Given the description of an element on the screen output the (x, y) to click on. 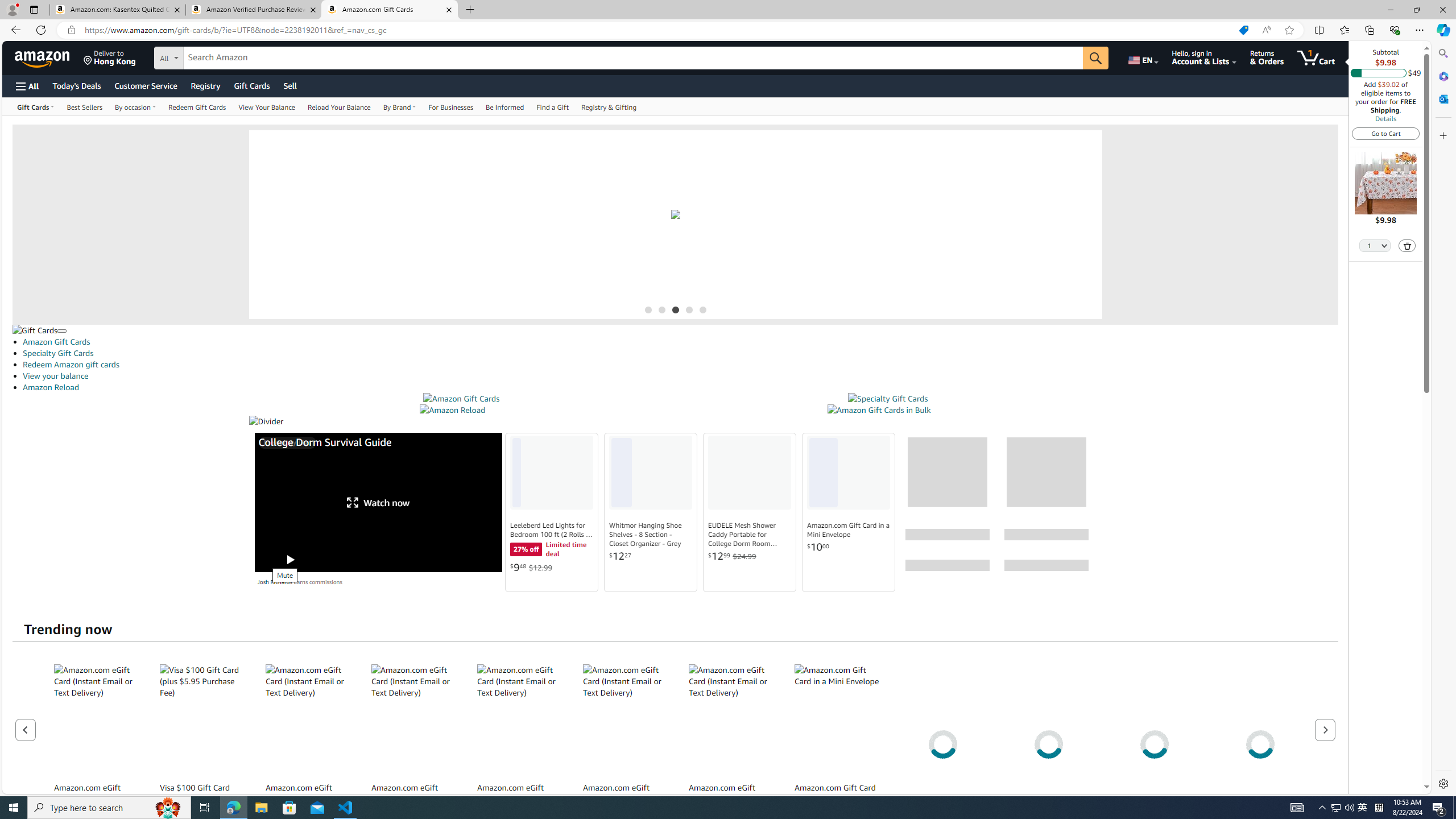
Search in (210, 56)
Amazon.com Gift Cards (390, 9)
Choose a language for shopping. (1142, 57)
Reload Your Balance (339, 106)
View your balance (680, 375)
Amazon Gift Cards in Bulk (878, 410)
